Given the description of an element on the screen output the (x, y) to click on. 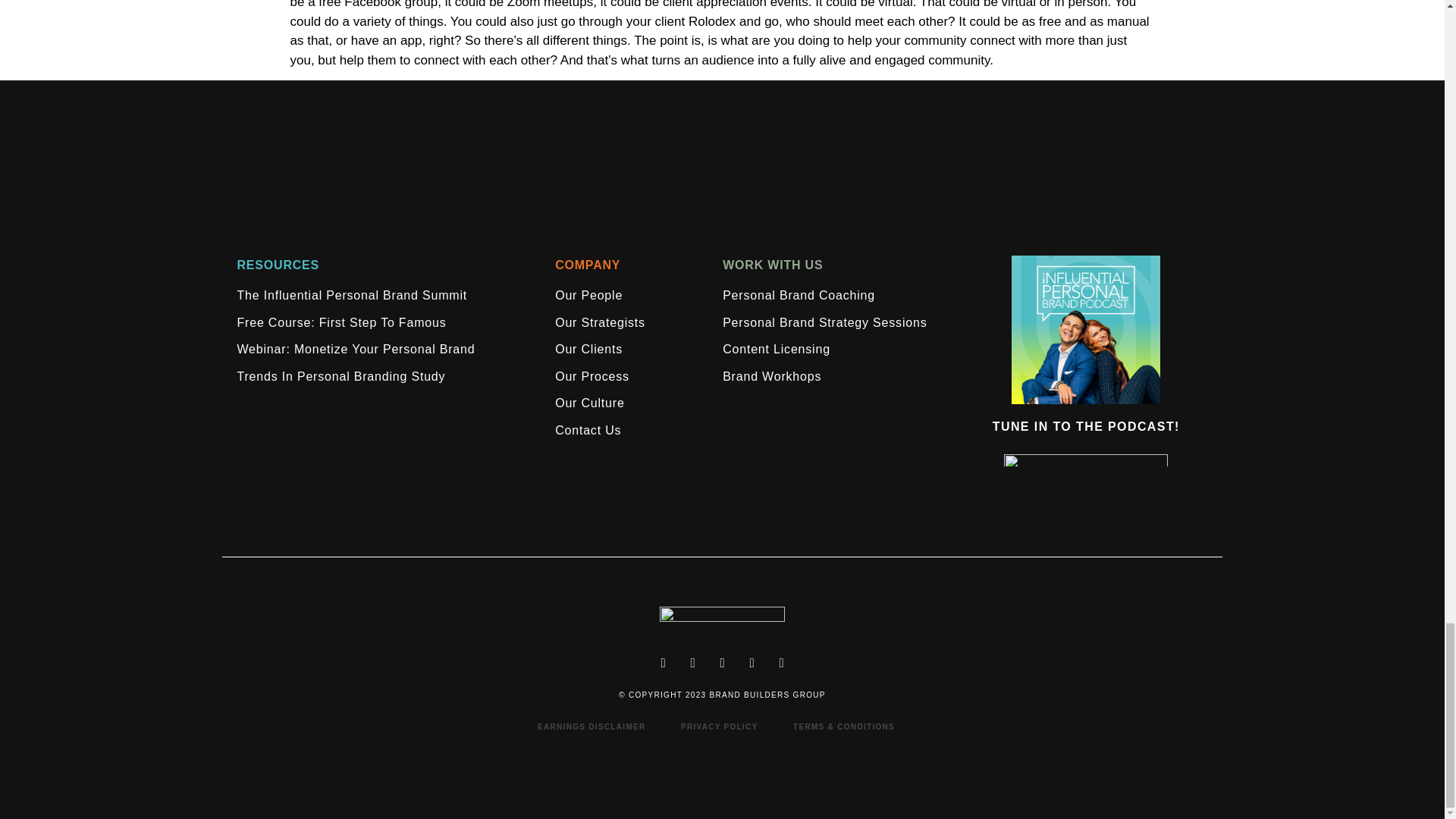
Content Licensing (775, 349)
The Influential Personal Brand Summit (351, 295)
WORK WITH US (772, 265)
Contact Us (587, 430)
Personal Brand Strategy Sessions (824, 322)
Our Strategists (599, 322)
Brand Workhops (771, 377)
Trends In Personal Branding Study (340, 377)
Webinar: Monetize Your Personal Brand (354, 349)
Free Course: First Step To Famous (340, 322)
